Given the description of an element on the screen output the (x, y) to click on. 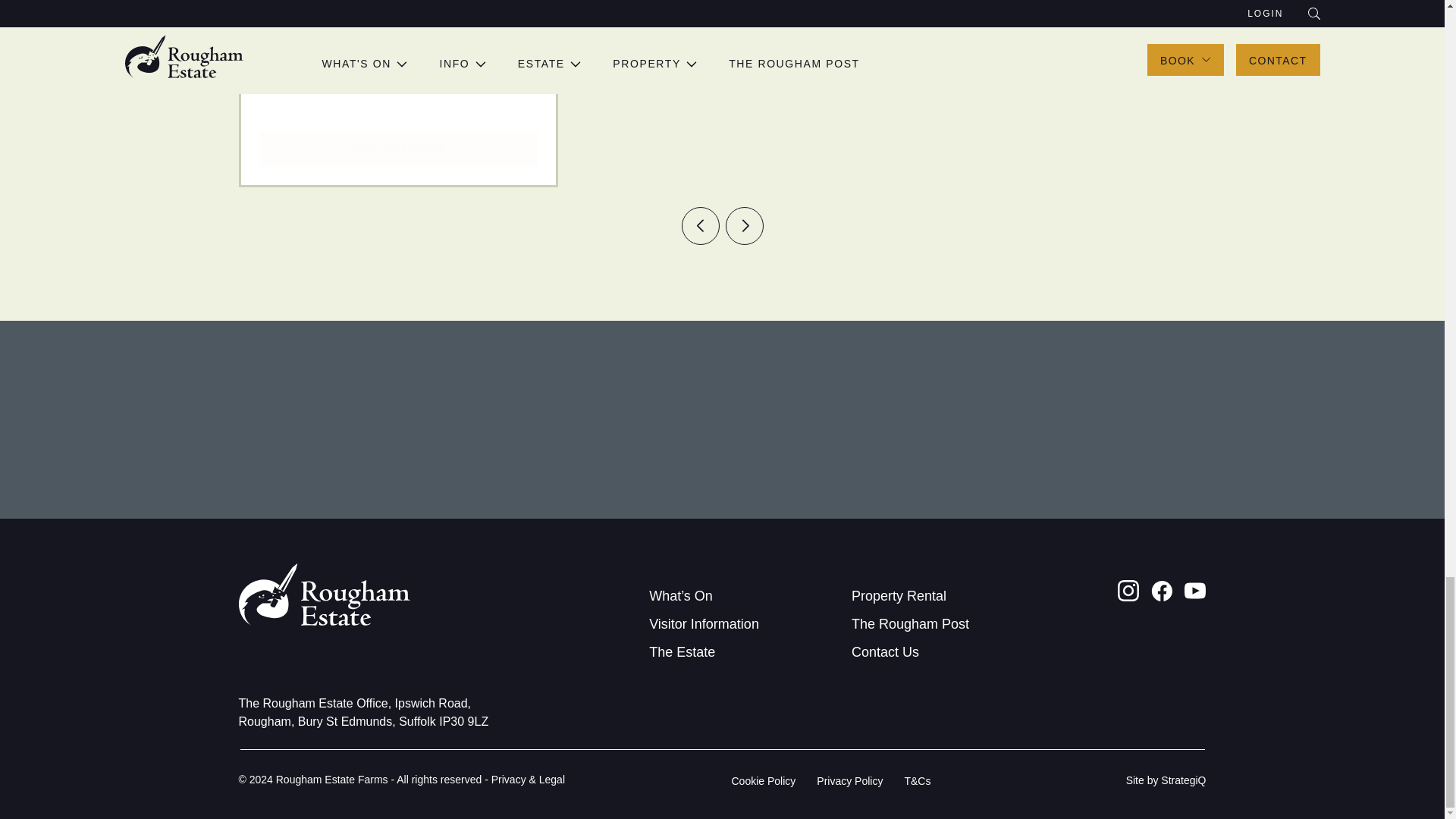
Instagram (1128, 590)
Youtube (1195, 590)
Sign up (1144, 432)
Facebook (1161, 590)
